Given the description of an element on the screen output the (x, y) to click on. 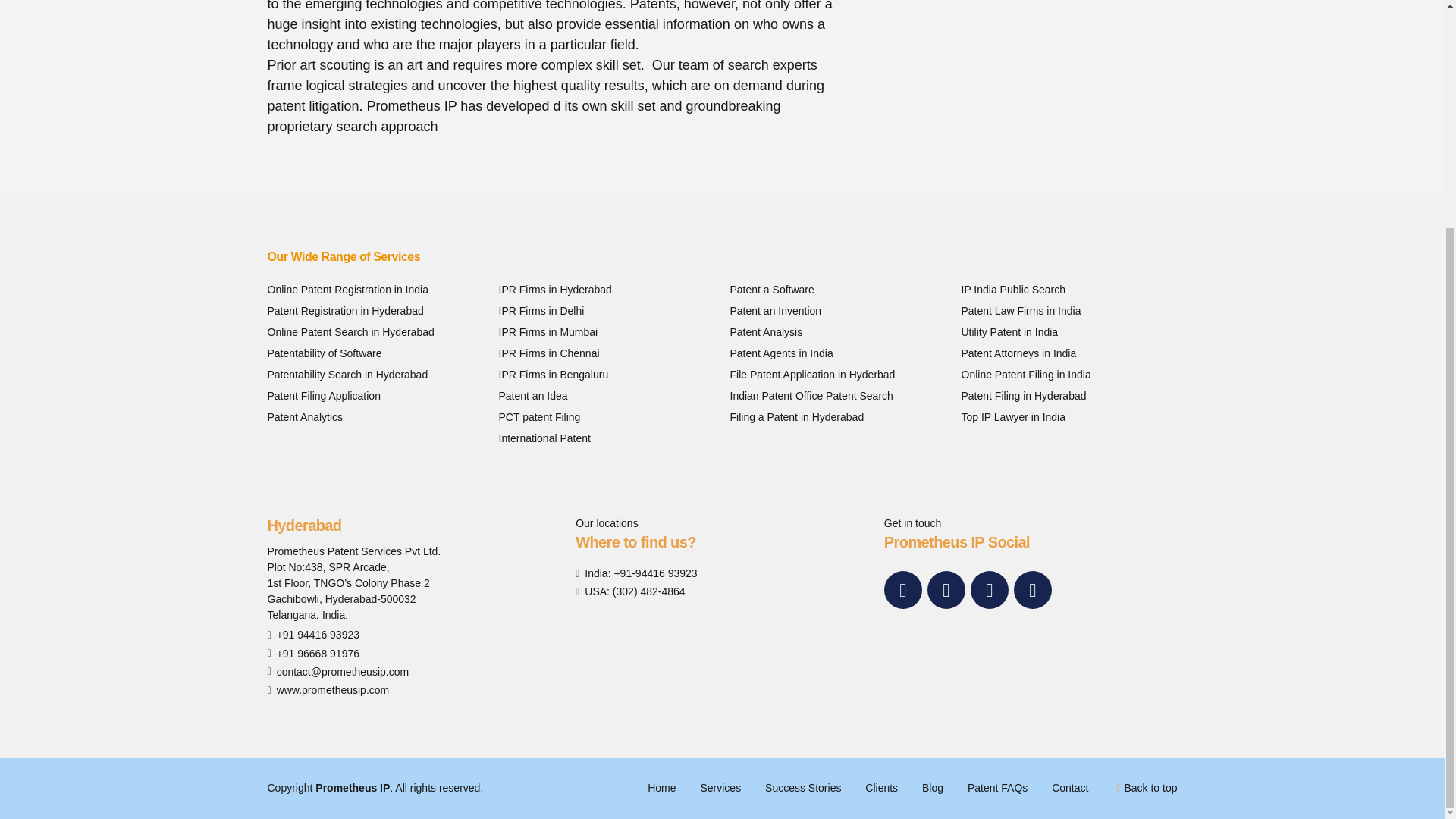
Patent Registration in Hyderabad (344, 310)
PCT patent Filing (539, 416)
Patent Registration in Hyderabad (344, 310)
Patent Analytics (304, 416)
Patentability Search in Hyderabad (347, 374)
Patentability of Software (323, 353)
Patent an Idea (533, 395)
Online Patent Registration in India (347, 289)
Patent Filing Application (323, 395)
IPR Firms in Delhi (542, 310)
Online Patent Search in Hyderabad (349, 331)
IPR Firms in Hyderabad (555, 289)
Online Patent Search in Hyderabad (349, 331)
IPR Firms in Chennai (549, 353)
IPR Firms in Bengaluru (553, 374)
